Given the description of an element on the screen output the (x, y) to click on. 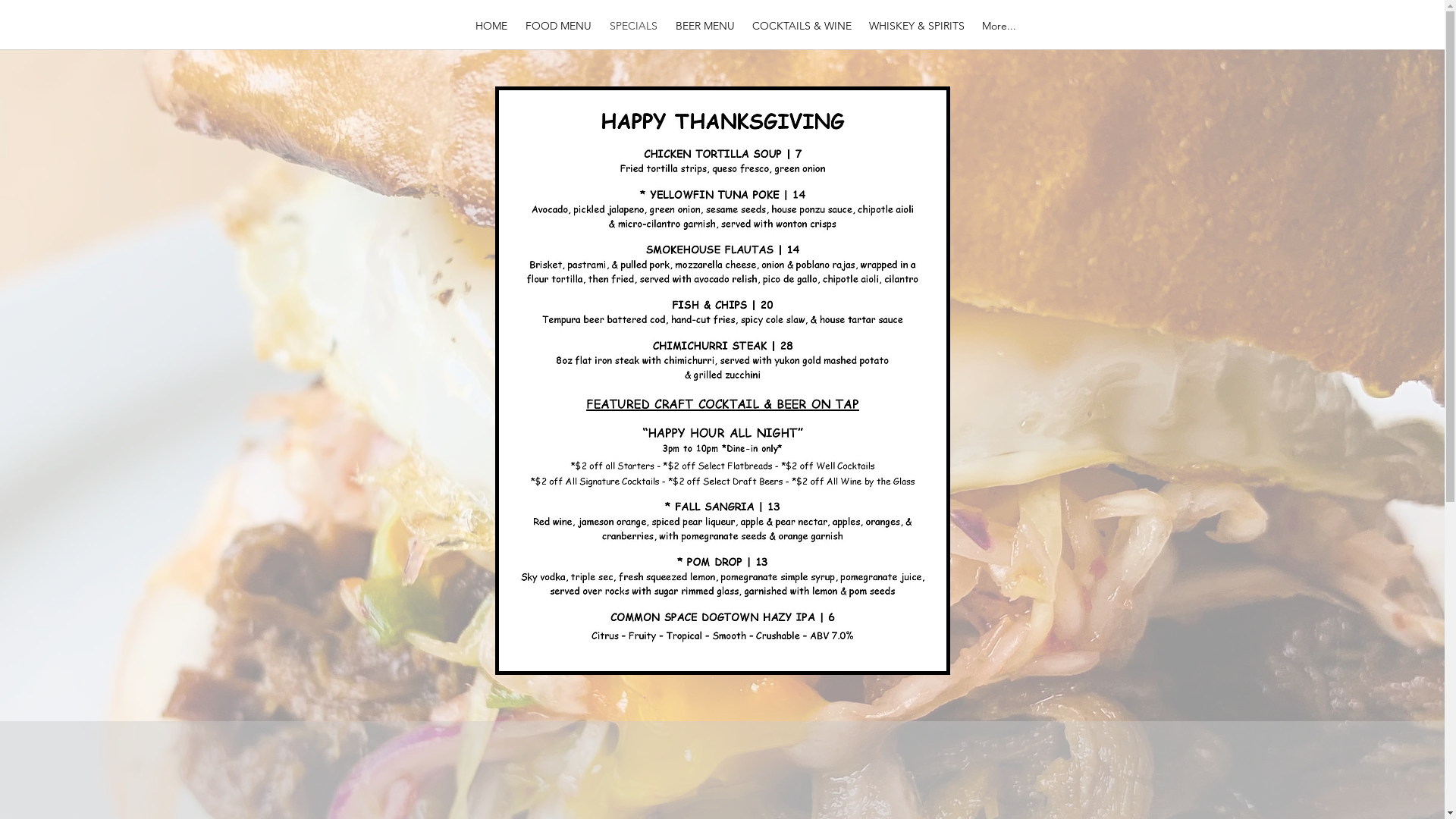
HOME Element type: text (490, 24)
BEER MENU Element type: text (704, 24)
WHISKEY & SPIRITS Element type: text (915, 24)
FOOD MENU Element type: text (557, 24)
SPECIALS Element type: text (633, 24)
COCKTAILS & WINE Element type: text (801, 24)
